Given the description of an element on the screen output the (x, y) to click on. 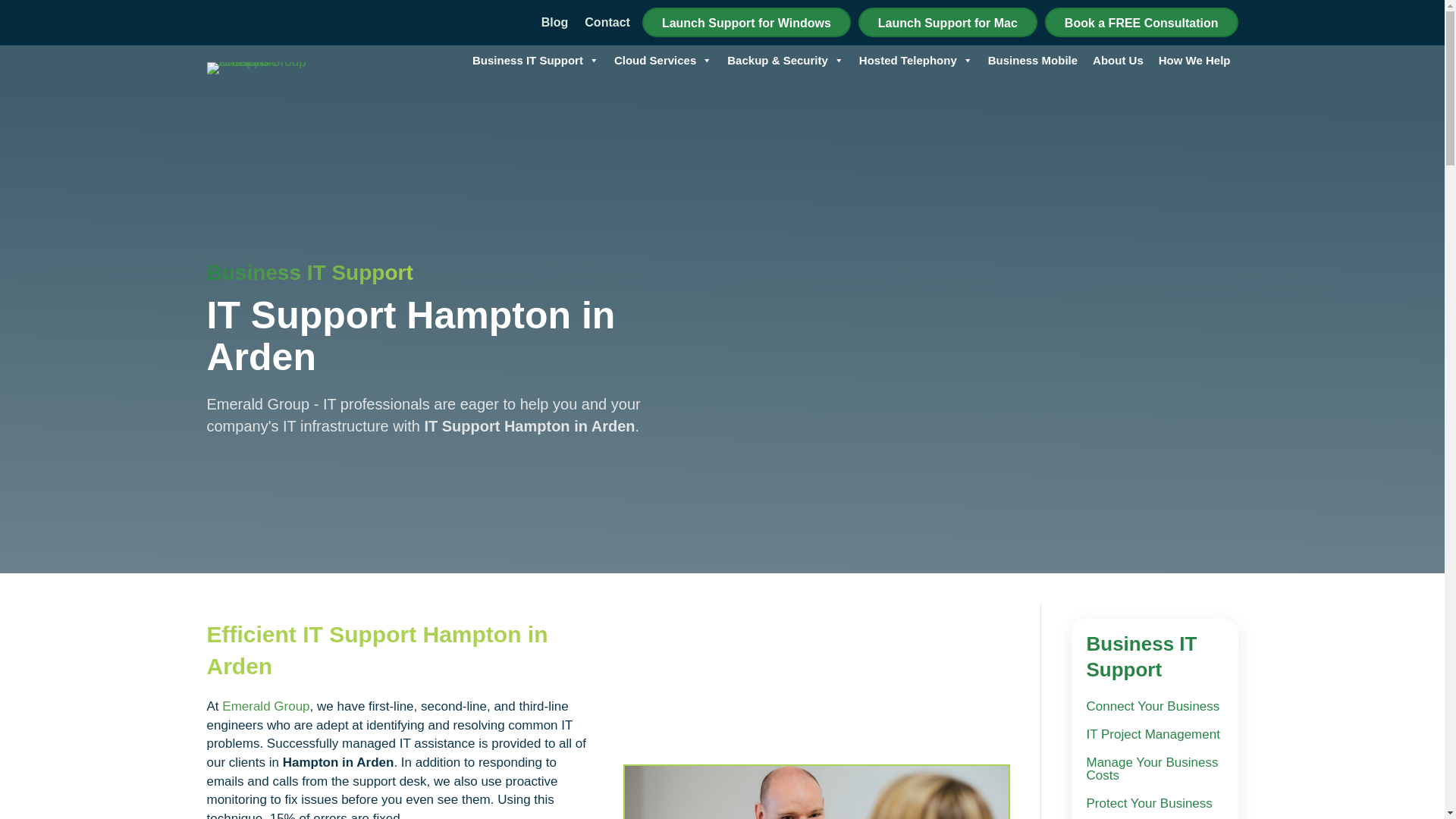
Launch Support for Windows (746, 21)
Cloud Services (663, 60)
Business IT Support (535, 60)
Book a FREE Consultation (1142, 21)
Blog (555, 18)
Launch Support for Mac (947, 21)
Contact (606, 18)
Emeralds Group Logo Lighter text (263, 68)
Hampton in Arden Businesess supported by Emerald Group (816, 791)
